Given the description of an element on the screen output the (x, y) to click on. 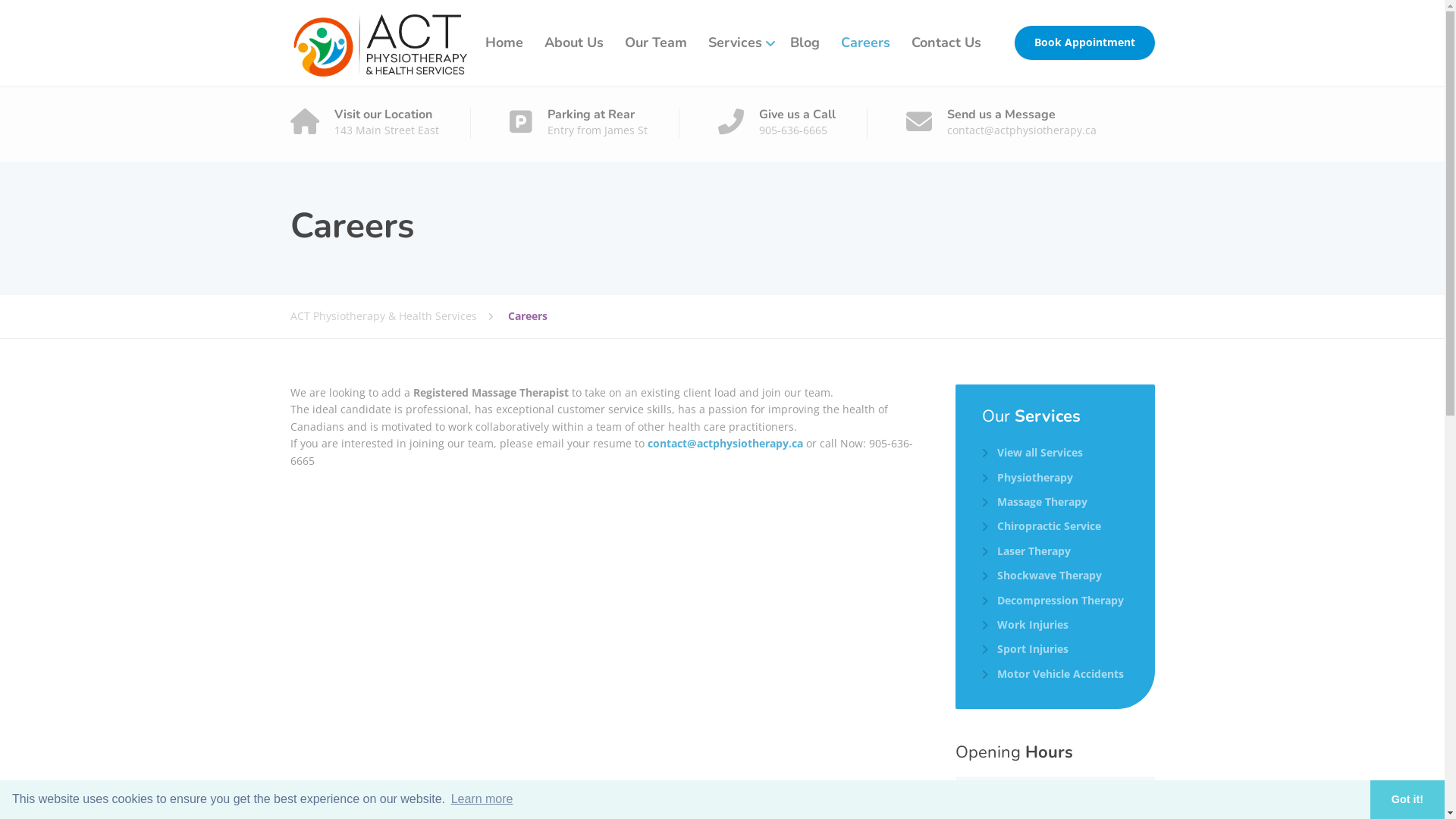
Physiotherapy Element type: text (1027, 477)
Blog Element type: text (804, 42)
Services Element type: text (738, 42)
905-636-6665 Element type: text (600, 451)
Motor Vehicle Accidents Element type: text (1052, 673)
Careers Element type: text (864, 42)
View all Services Element type: text (1032, 452)
ACT Physiotherapy & Health Services Element type: text (398, 315)
Home Element type: text (503, 42)
Book Appointment Element type: text (1084, 42)
Massage Therapy Element type: text (1034, 501)
Decompression Therapy Element type: text (1052, 600)
About Us Element type: text (573, 42)
Learn more Element type: text (481, 798)
Sport Injuries Element type: text (1025, 648)
Shockwave Therapy Element type: text (1041, 575)
Chiropractic Service Element type: text (1041, 525)
Our Team Element type: text (655, 42)
Laser Therapy Element type: text (1026, 550)
ACT Physiotherapy & Health Services Element type: hover (379, 42)
contact@actphysiotherapy.ca Element type: text (725, 443)
Work Injuries Element type: text (1025, 624)
Contact Us Element type: text (945, 42)
